Given the description of an element on the screen output the (x, y) to click on. 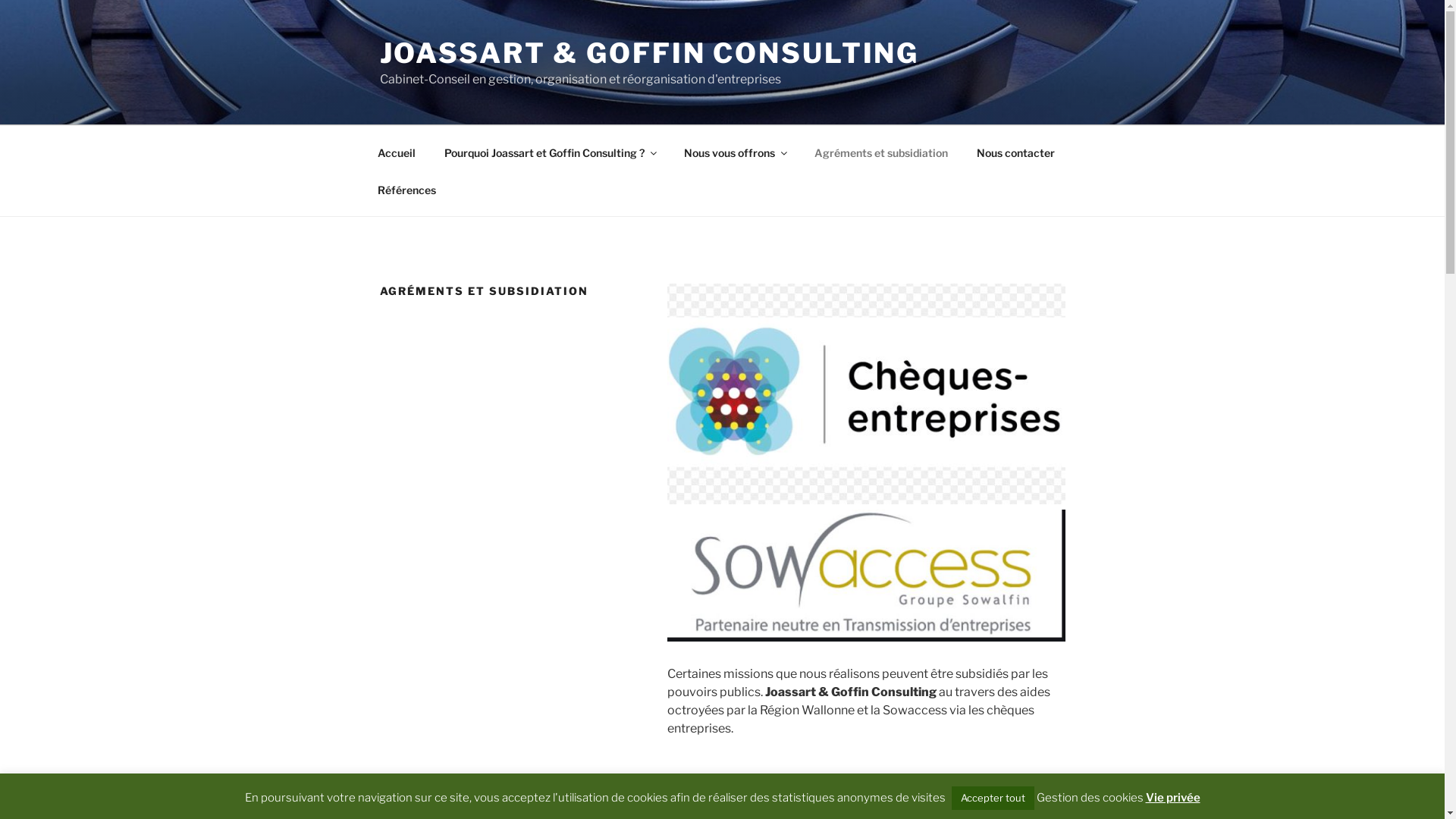
Nous contacter Element type: text (1015, 151)
Accueil Element type: text (396, 151)
JOASSART & GOFFIN CONSULTING Element type: text (649, 52)
Pourquoi Joassart et Goffin Consulting ? Element type: text (549, 151)
Nous vous offrons Element type: text (734, 151)
Gestion des cookies Element type: text (1088, 797)
Accepter tout Element type: text (991, 797)
